Given the description of an element on the screen output the (x, y) to click on. 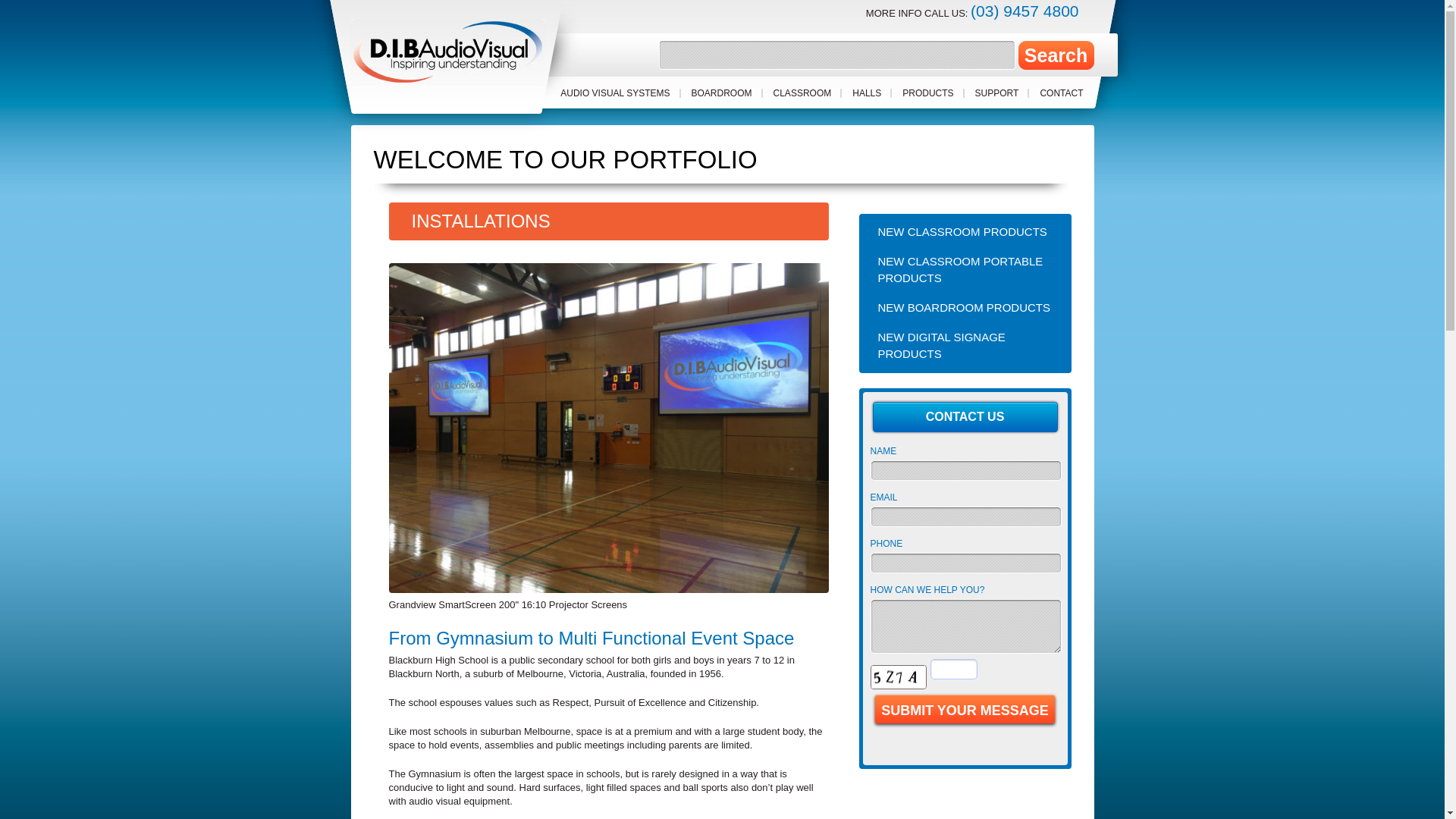
NEW CLASSROOM PRODUCTS Element type: text (964, 231)
NEW DIGITAL SIGNAGE PRODUCTS Element type: text (964, 345)
Submit Your Message Element type: text (964, 710)
From Gymnasium to Multi Functional Event Space Element type: text (590, 637)
(03) 9457 4800 Element type: text (1024, 10)
NEW BOARDROOM PRODUCTS Element type: text (964, 307)
PRODUCTS Element type: text (927, 92)
CLASSROOM Element type: text (802, 92)
NEW CLASSROOM PORTABLE PRODUCTS Element type: text (964, 269)
BOARDROOM Element type: text (721, 92)
SUPPORT Element type: text (996, 92)
HALLS Element type: text (866, 92)
Search Element type: text (1055, 54)
AUDIO VISUAL SYSTEMS Element type: text (614, 92)
CONTACT Element type: text (1061, 92)
